Given the description of an element on the screen output the (x, y) to click on. 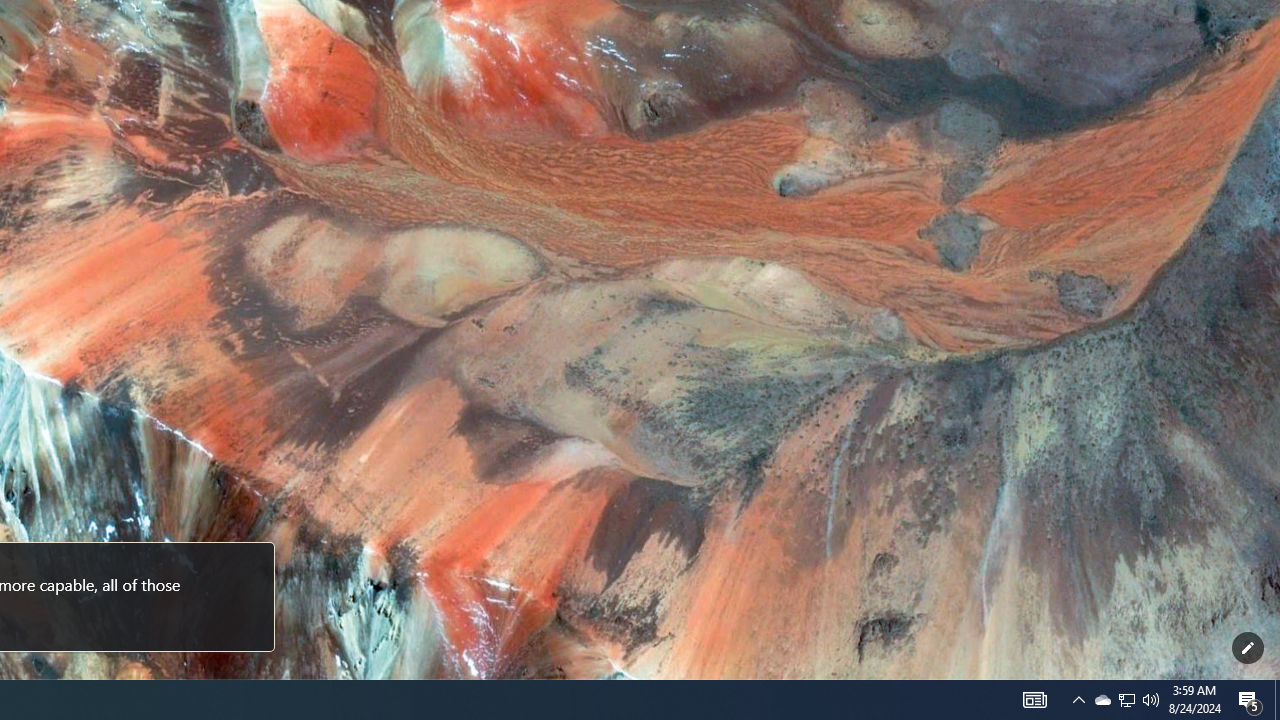
Customize this page (1247, 647)
